Given the description of an element on the screen output the (x, y) to click on. 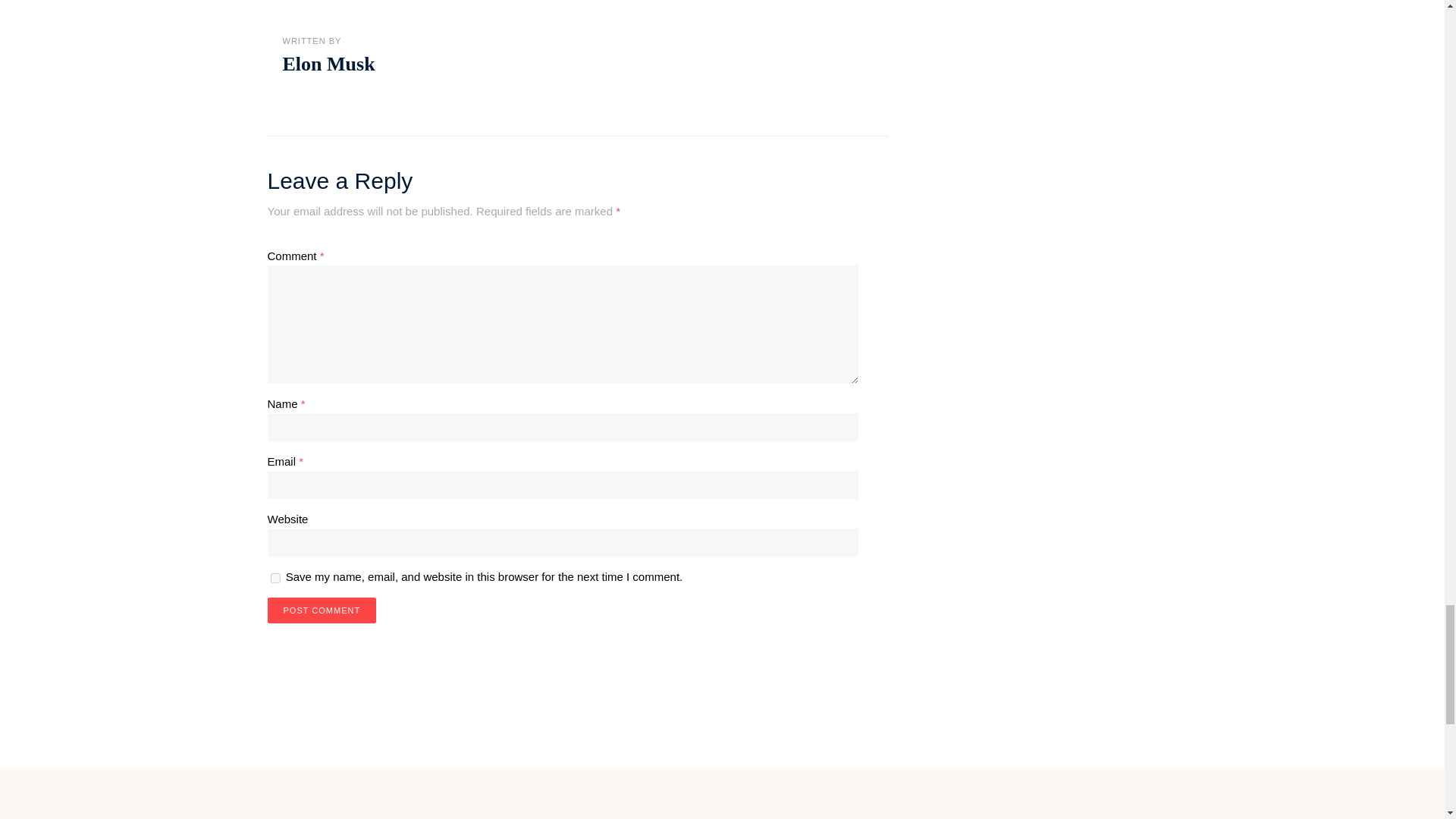
Elon Musk (328, 64)
yes (274, 578)
Post Comment (320, 610)
Post Comment (320, 610)
